Given the description of an element on the screen output the (x, y) to click on. 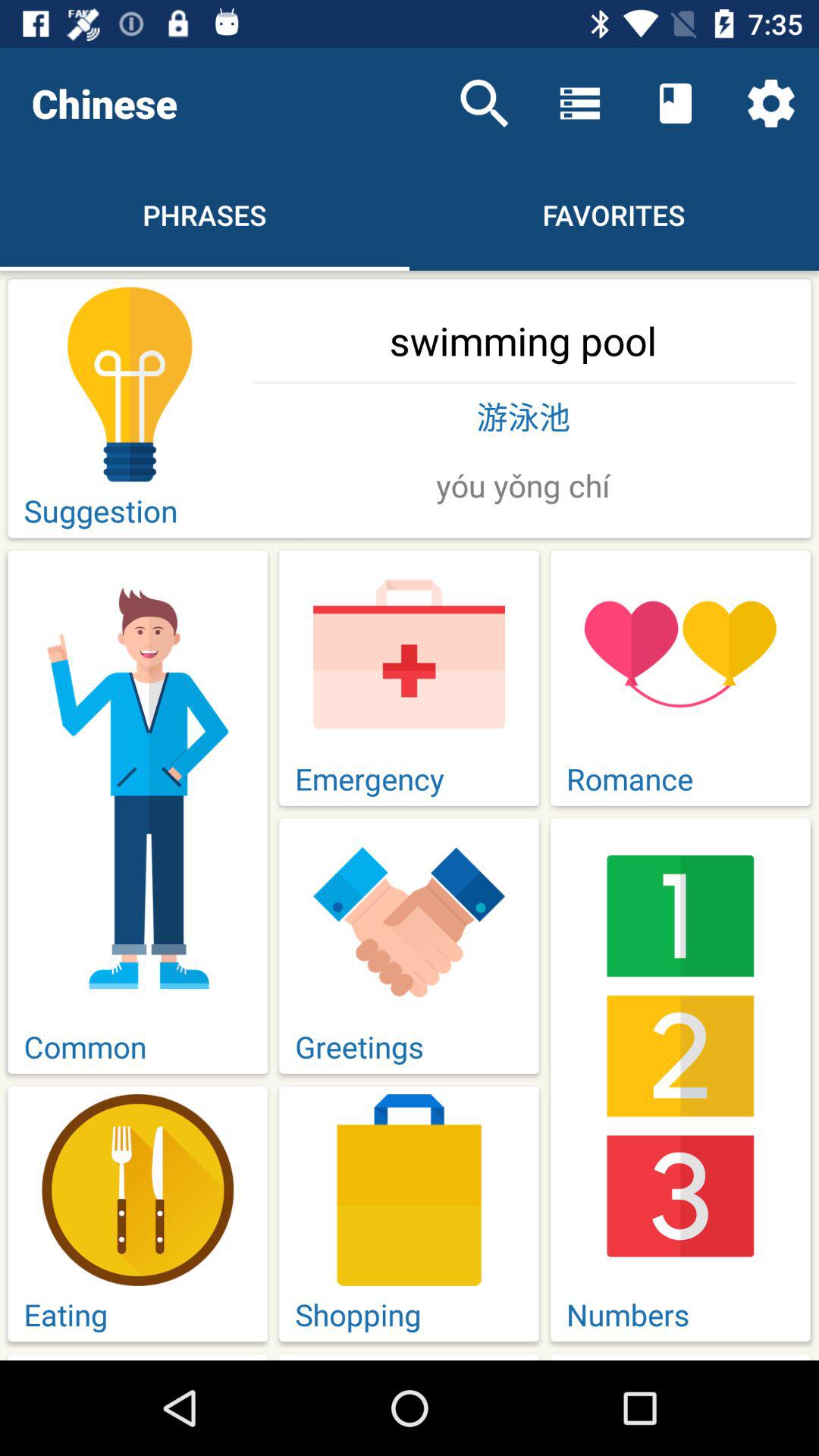
turn on the item above the swimming pool (484, 103)
